Given the description of an element on the screen output the (x, y) to click on. 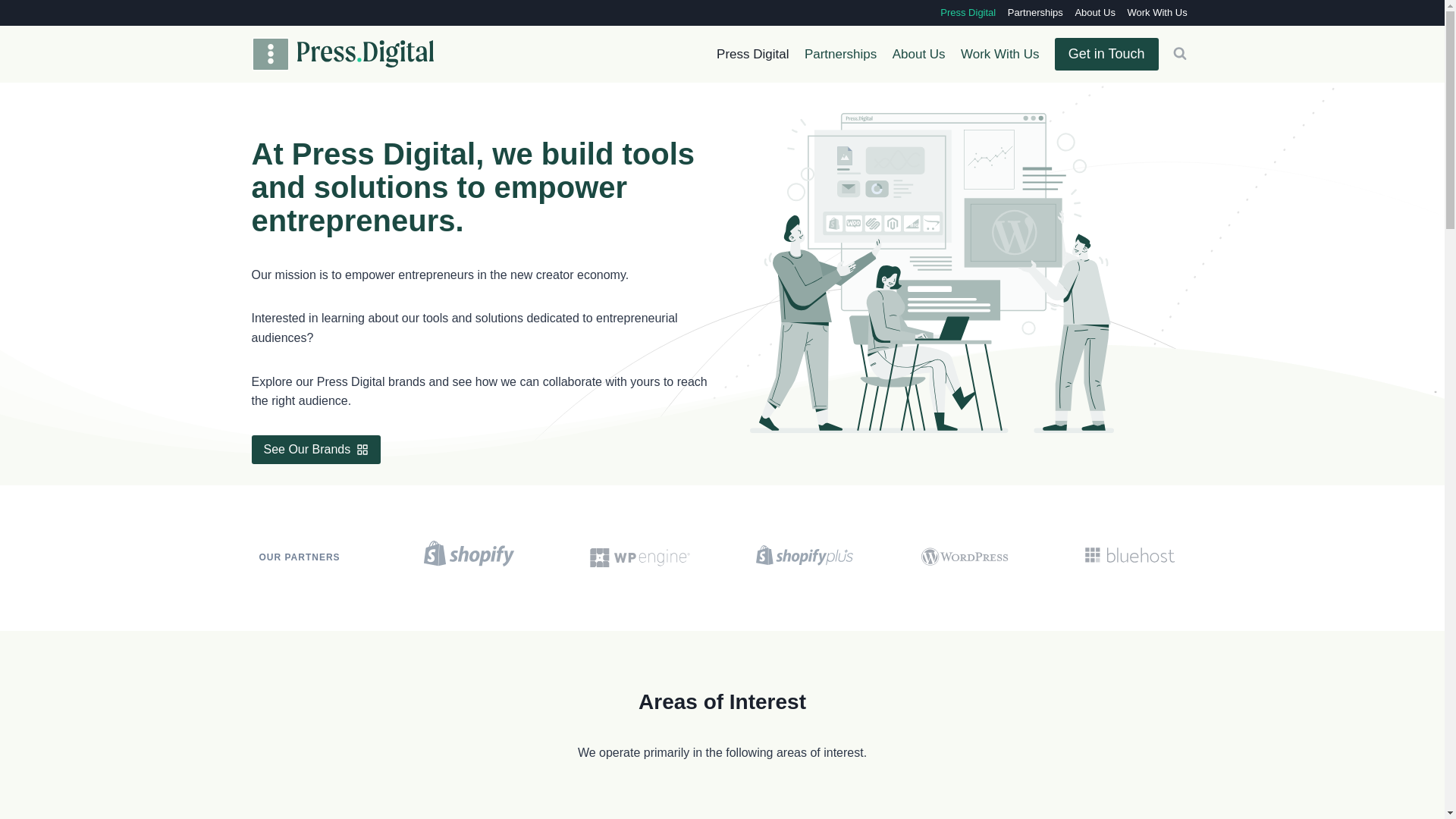
Partnerships (1034, 12)
See Our Brands (316, 449)
Partnerships (840, 54)
Work With Us (1157, 12)
About Us (1094, 12)
Press Digital (752, 54)
About Us (917, 54)
Get in Touch (1106, 53)
Press Digital (967, 12)
Work With Us (999, 54)
